Given the description of an element on the screen output the (x, y) to click on. 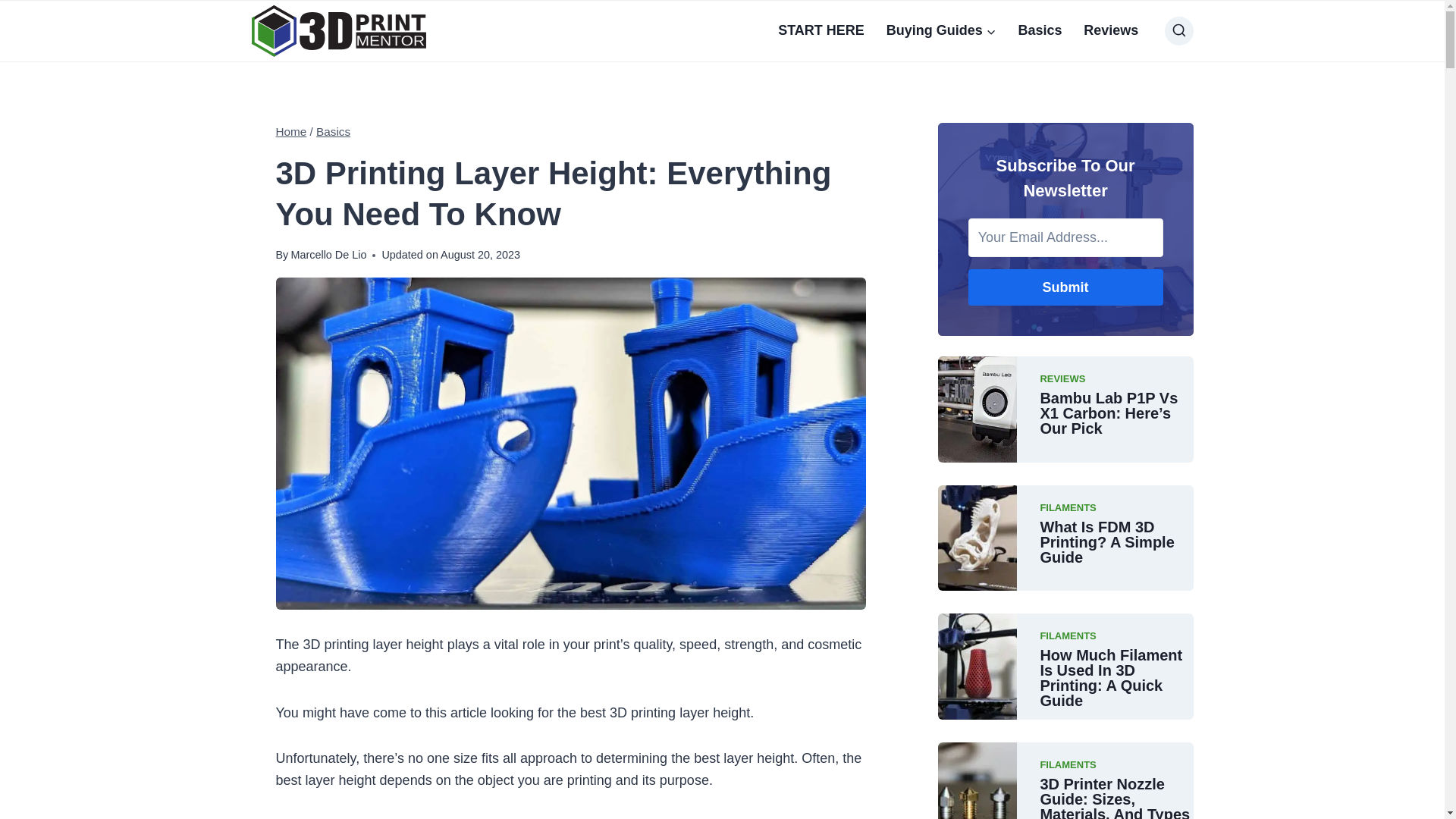
Basics Element type: text (1040, 30)
FILAMENTS Element type: text (1067, 764)
Marcello De Lio Element type: text (328, 254)
Basics Element type: text (333, 131)
Skip to content Element type: text (0, 0)
Home Element type: text (291, 131)
FILAMENTS Element type: text (1067, 635)
Submit Element type: text (1065, 287)
Buying Guides Element type: text (941, 30)
Reviews Element type: text (1111, 30)
REVIEWS Element type: text (1062, 378)
What Is FDM 3D Printing? A Simple Guide Element type: text (1115, 541)
START HERE Element type: text (821, 30)
How Much Filament Is Used In 3D Printing: A Quick Guide Element type: text (1115, 677)
FILAMENTS Element type: text (1067, 507)
